Given the description of an element on the screen output the (x, y) to click on. 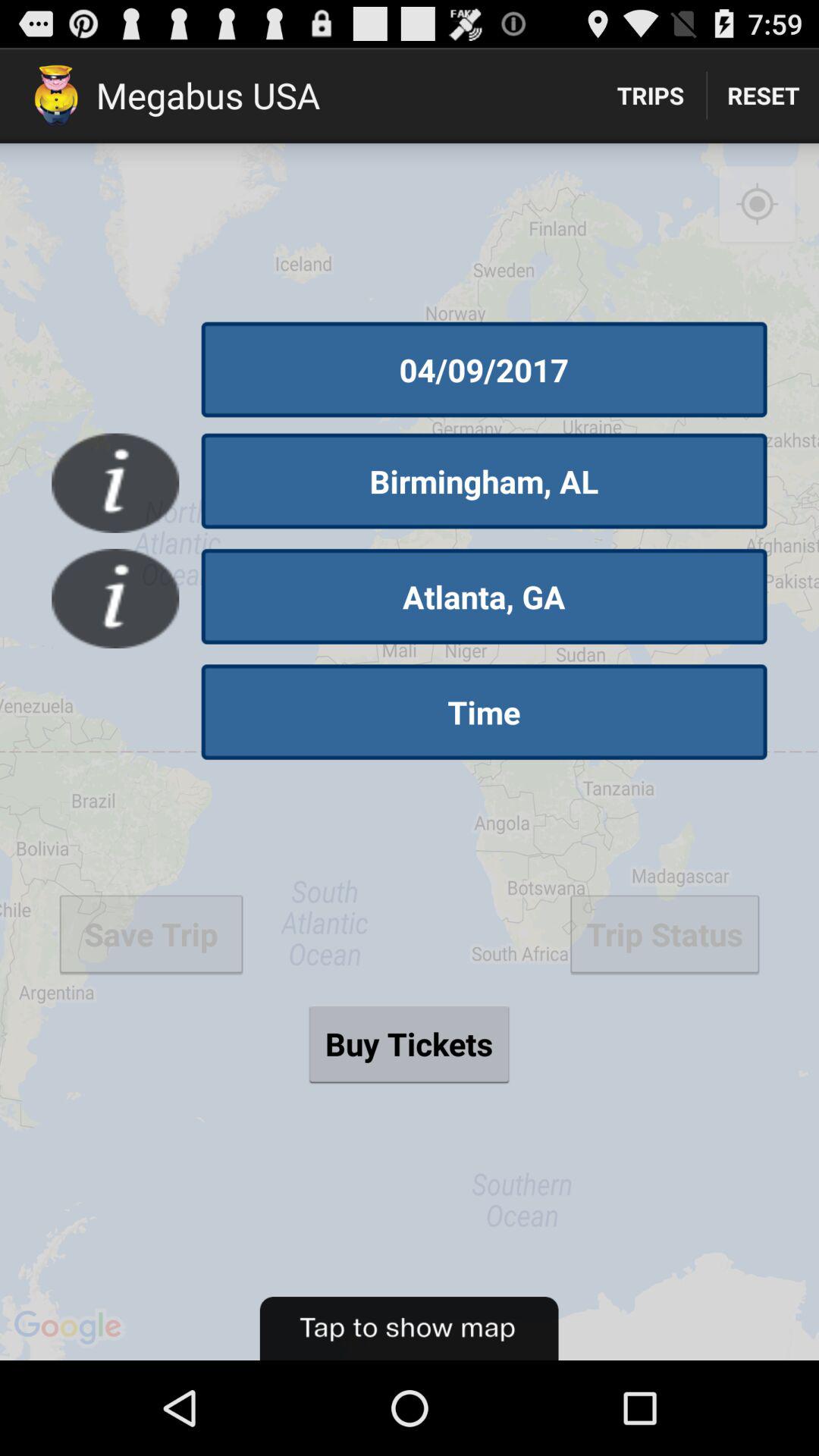
swipe to save trip (150, 934)
